Given the description of an element on the screen output the (x, y) to click on. 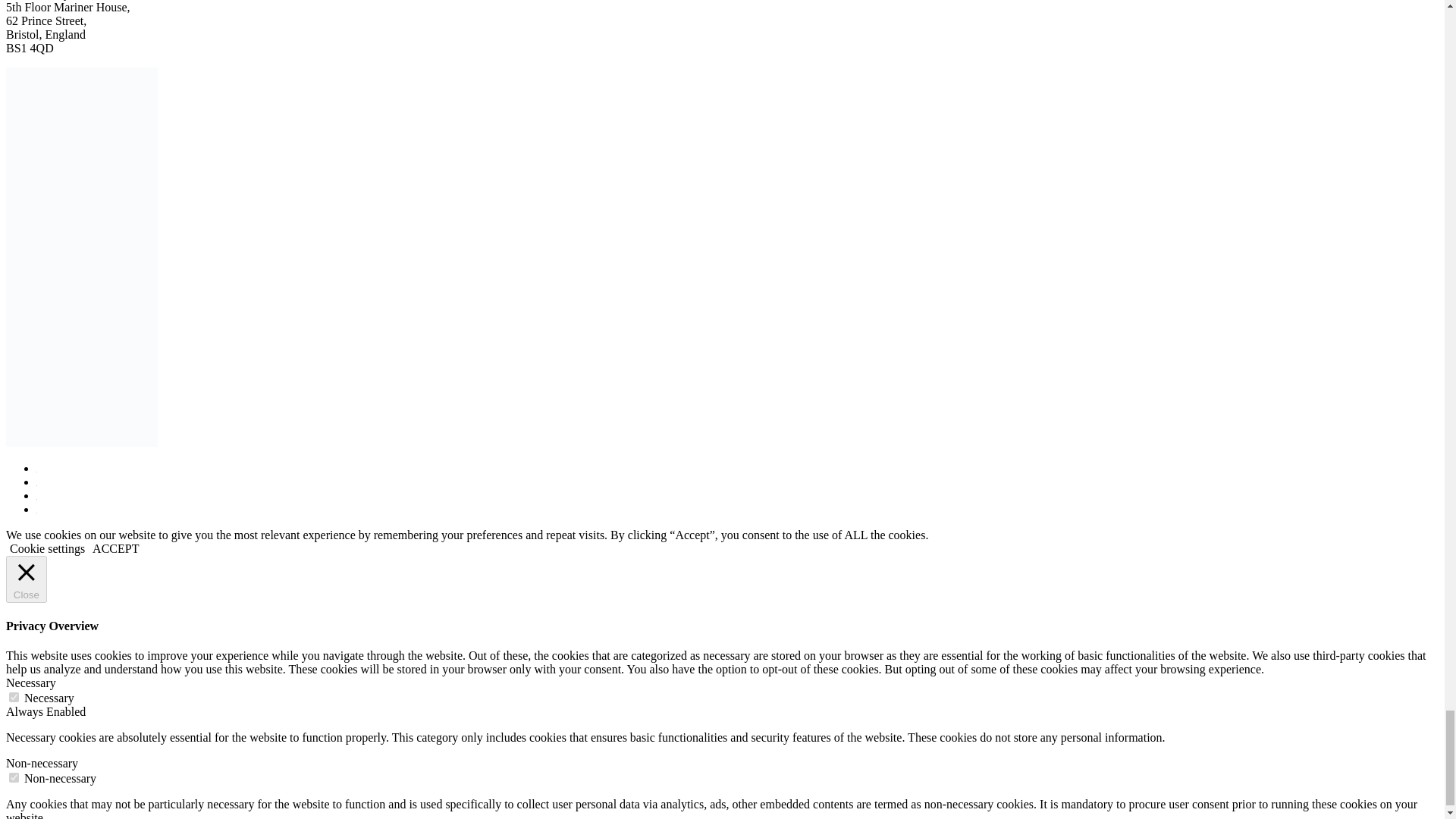
on (13, 777)
on (13, 696)
